Given the description of an element on the screen output the (x, y) to click on. 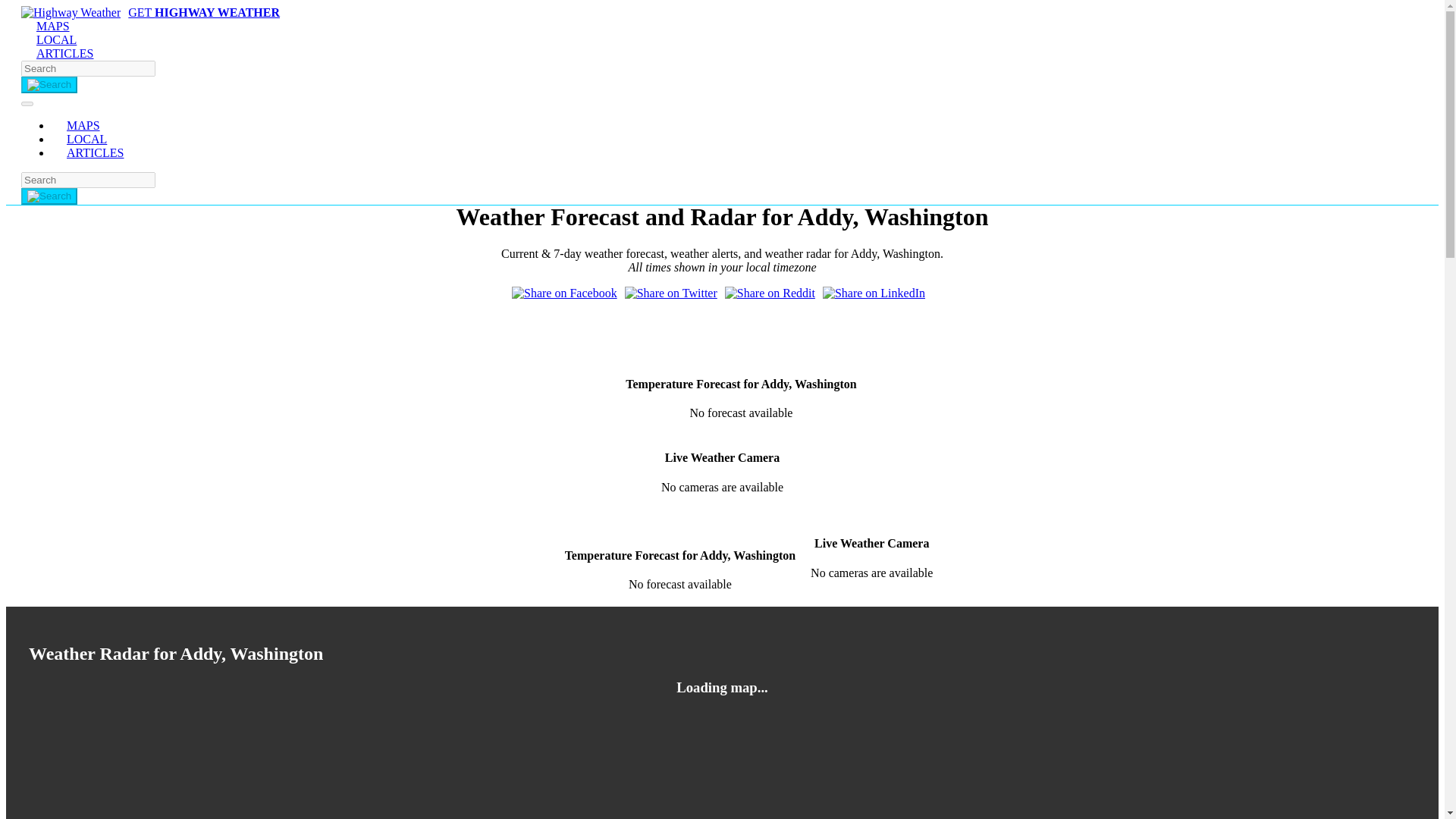
ARTICLES (102, 152)
LOCAL (56, 39)
GET HIGHWAY WEATHER (150, 11)
ARTICLES (64, 52)
ARTICLES (102, 152)
LOCAL (86, 138)
MAPS (52, 25)
LOCAL (56, 39)
MAPS (82, 124)
GET HIGHWAY WEATHER (150, 11)
